Given the description of an element on the screen output the (x, y) to click on. 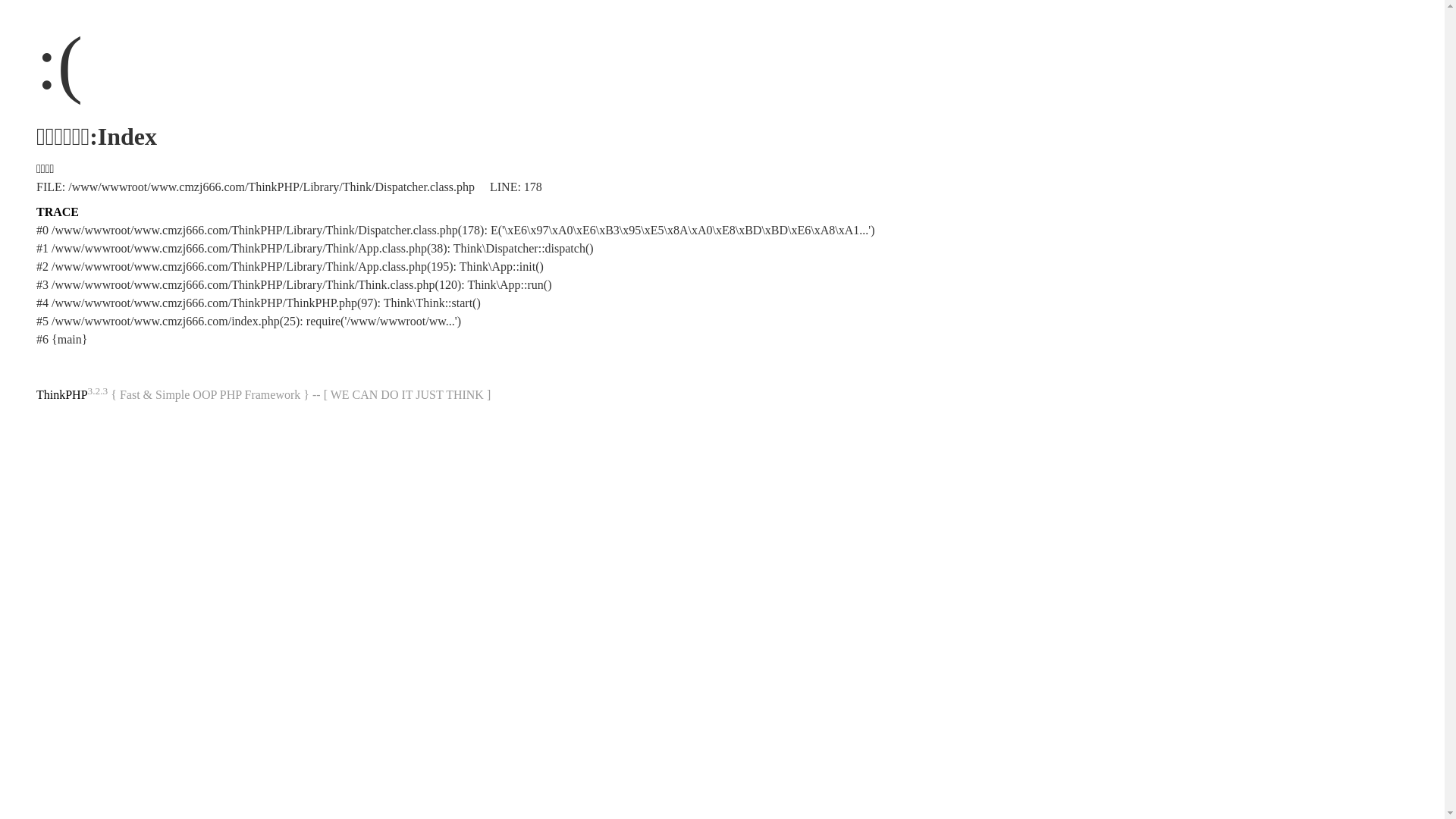
ThinkPHP Element type: text (61, 394)
